Given the description of an element on the screen output the (x, y) to click on. 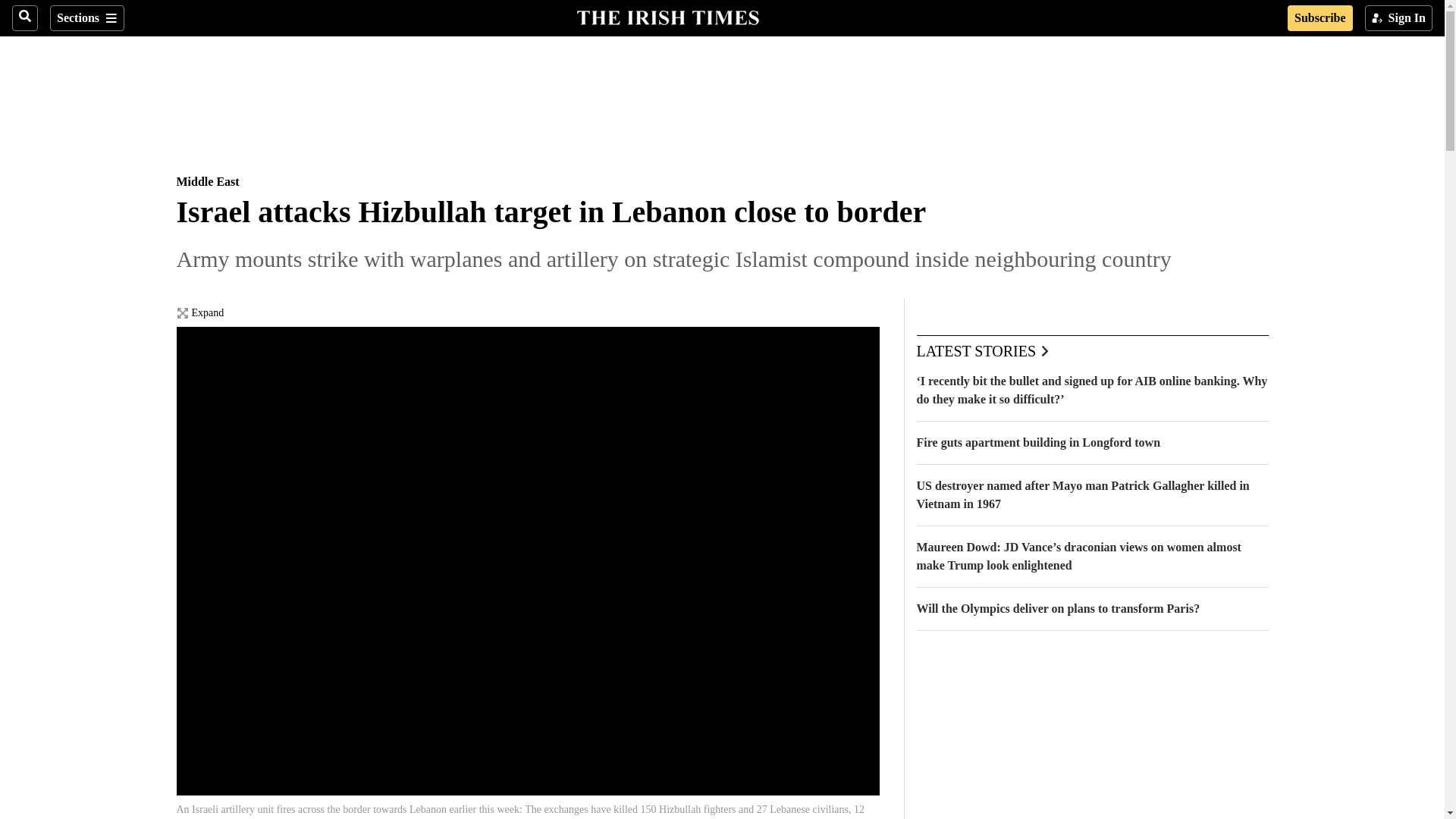
Subscribe (1319, 17)
Sections (86, 17)
Sign In (1398, 17)
The Irish Times (667, 16)
